Given the description of an element on the screen output the (x, y) to click on. 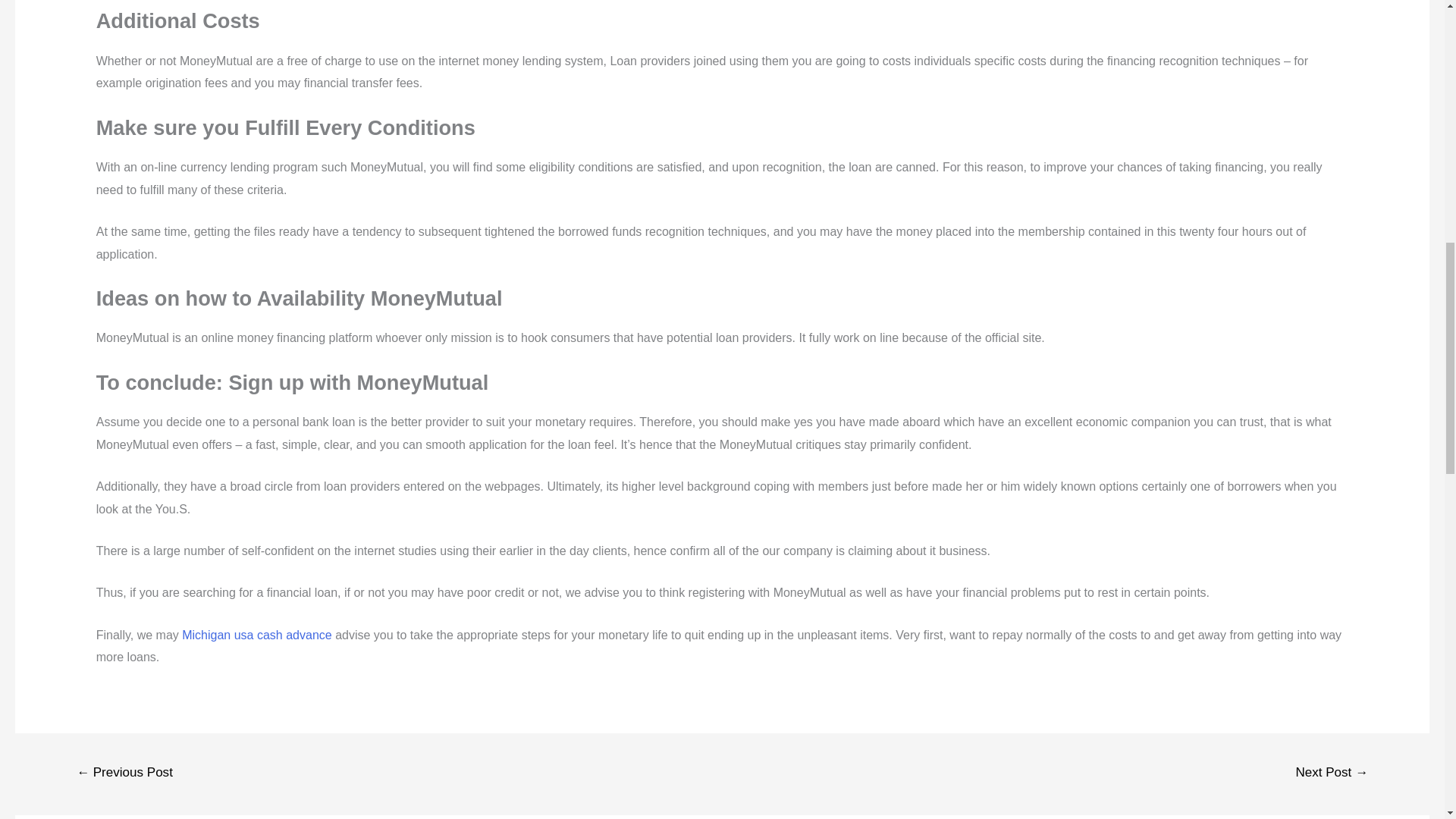
Michigan usa cash advance (256, 634)
